Given the description of an element on the screen output the (x, y) to click on. 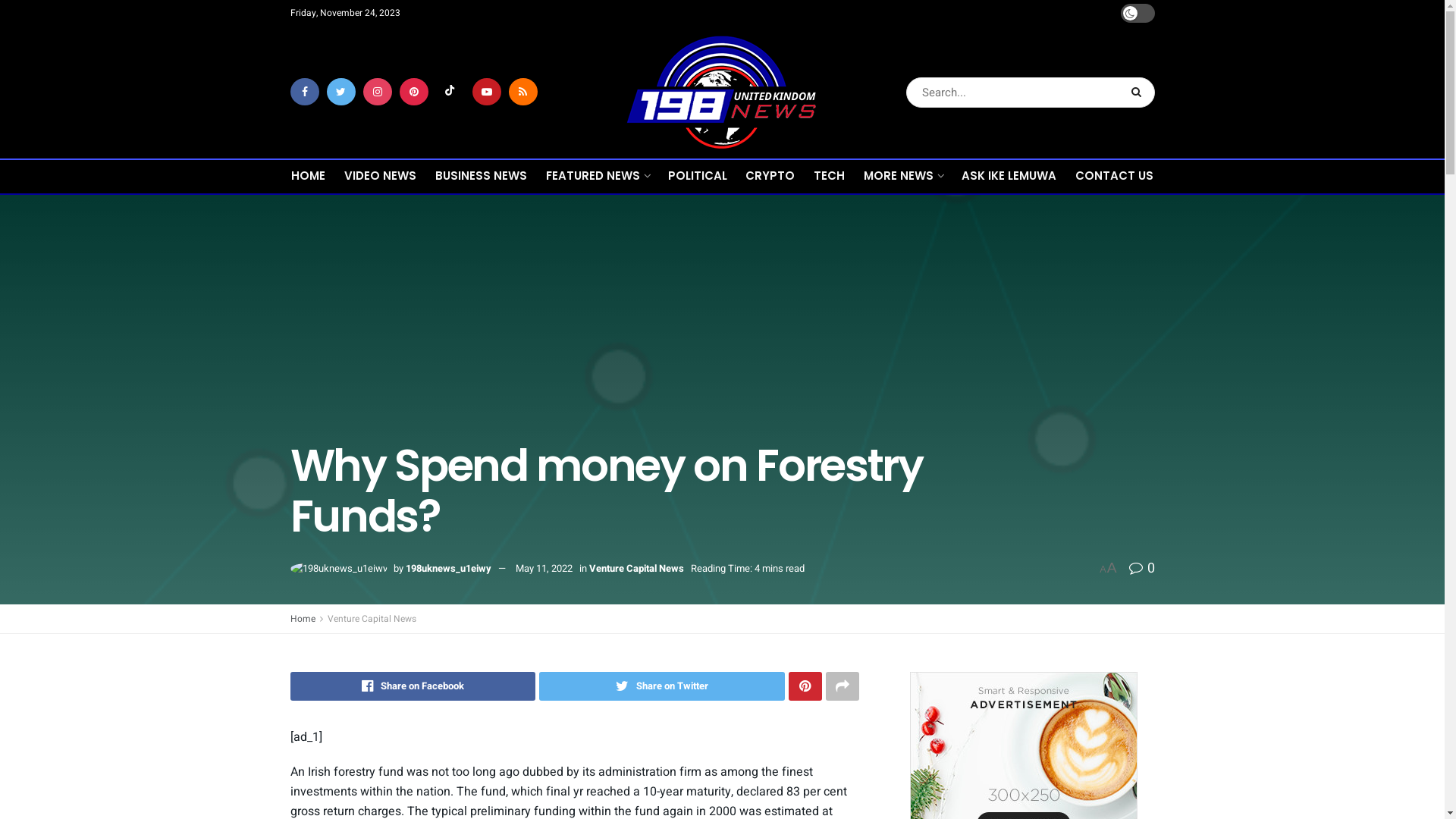
MORE NEWS Element type: text (902, 175)
May 11, 2022 Element type: text (543, 568)
POLITICAL Element type: text (697, 175)
VIDEO NEWS Element type: text (380, 175)
BUSINESS NEWS Element type: text (481, 175)
0 Element type: text (1141, 568)
198uknews_u1eiwy Element type: text (447, 568)
ASK IKE LEMUWA Element type: text (1008, 175)
FEATURED NEWS Element type: text (597, 175)
Home Element type: text (301, 618)
Venture Capital News Element type: text (371, 618)
HOME Element type: text (308, 175)
CONTACT US Element type: text (1114, 175)
TECH Element type: text (828, 175)
CRYPTO Element type: text (769, 175)
Share on Twitter Element type: text (661, 685)
Share on Facebook Element type: text (412, 685)
Venture Capital News Element type: text (635, 568)
